Given the description of an element on the screen output the (x, y) to click on. 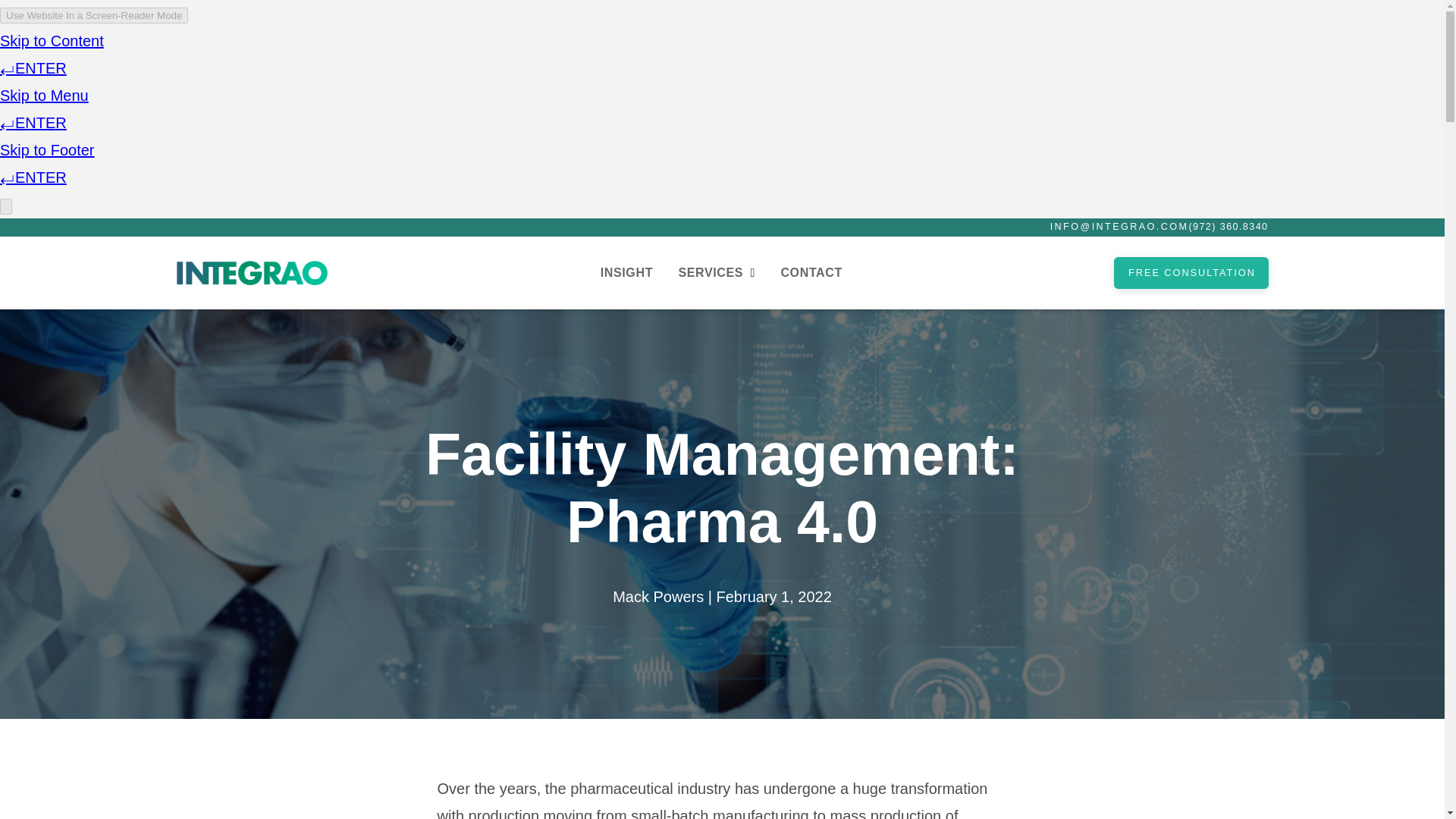
SERVICES (716, 272)
CONTACT (810, 272)
FREE CONSULTATION (1190, 272)
INSIGHT (626, 272)
